Given the description of an element on the screen output the (x, y) to click on. 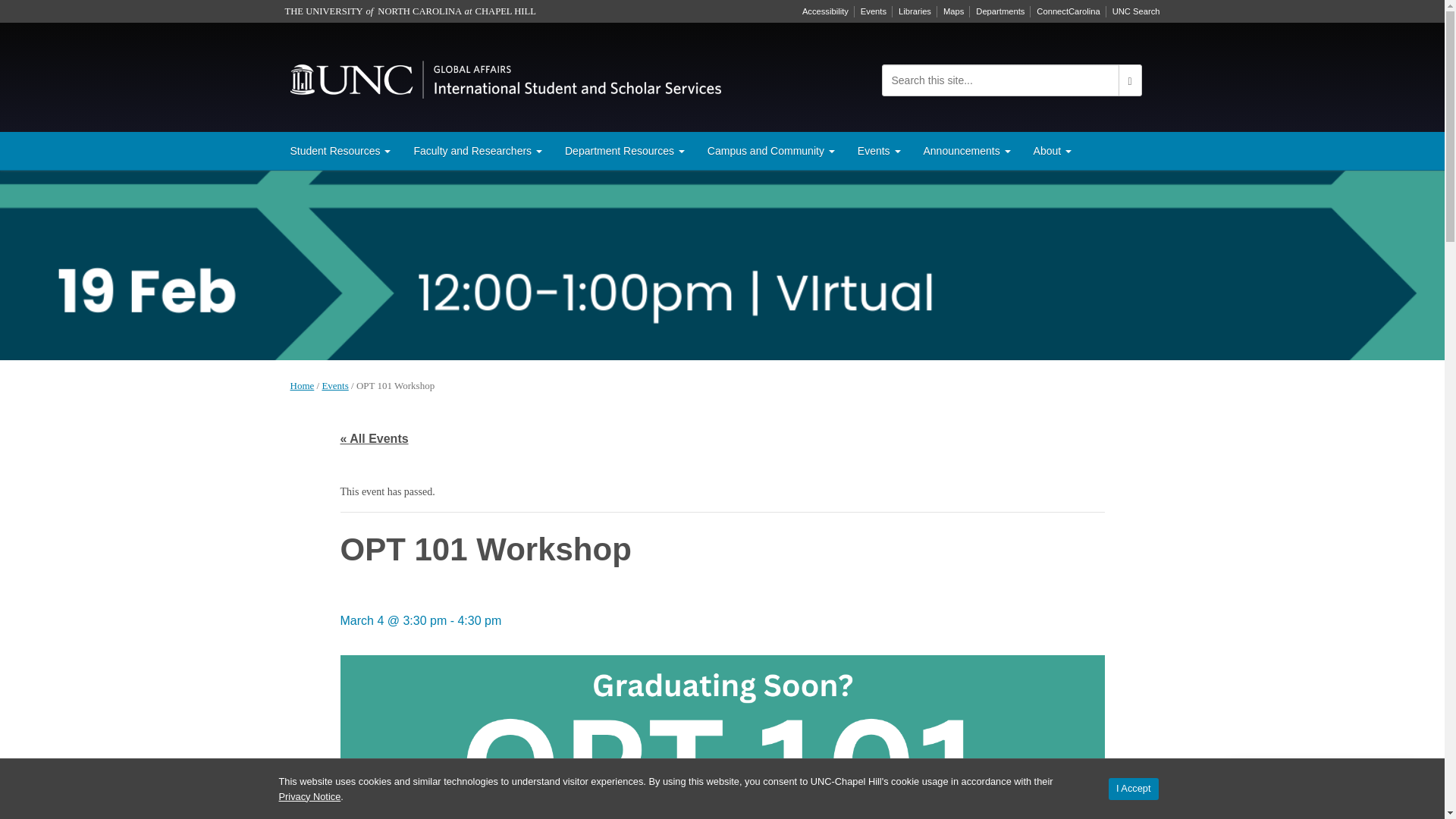
Student Resources (341, 150)
Libraries (914, 11)
Maps (953, 11)
QUESTIONS? ASK RAMESES (1321, 782)
Events (873, 11)
Department Resources (624, 150)
Privacy Notice (309, 796)
THE UNIVERSITY of NORTH CAROLINA at CHAPEL HILL (410, 11)
I Accept (1133, 789)
Accessibility (825, 11)
Faculty and Researchers (477, 150)
ConnectCarolina (1067, 11)
ISSS (504, 76)
UNC Search (1136, 11)
